Given the description of an element on the screen output the (x, y) to click on. 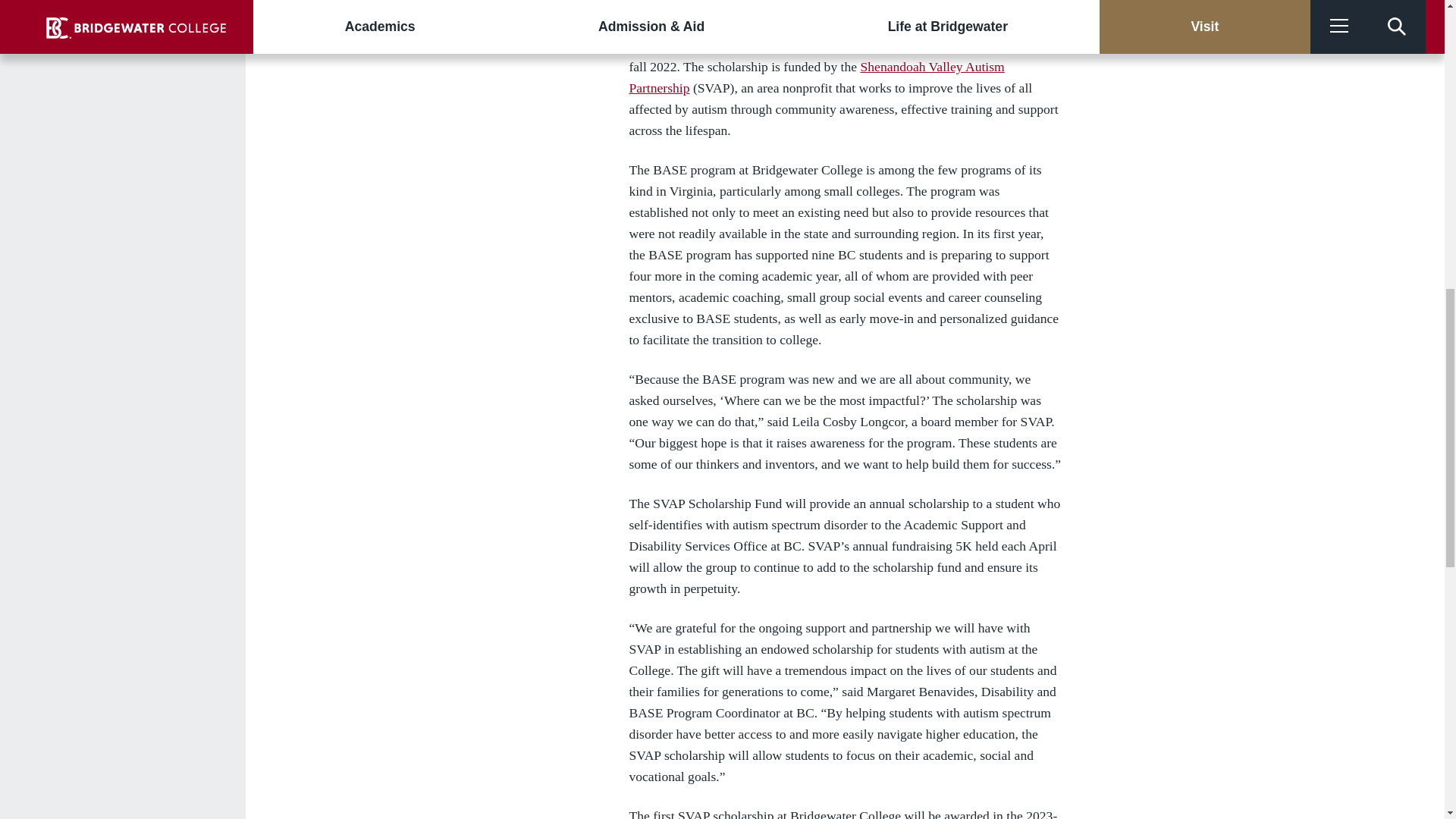
Shenandoah Valley Autism Partnership (816, 76)
